Given the description of an element on the screen output the (x, y) to click on. 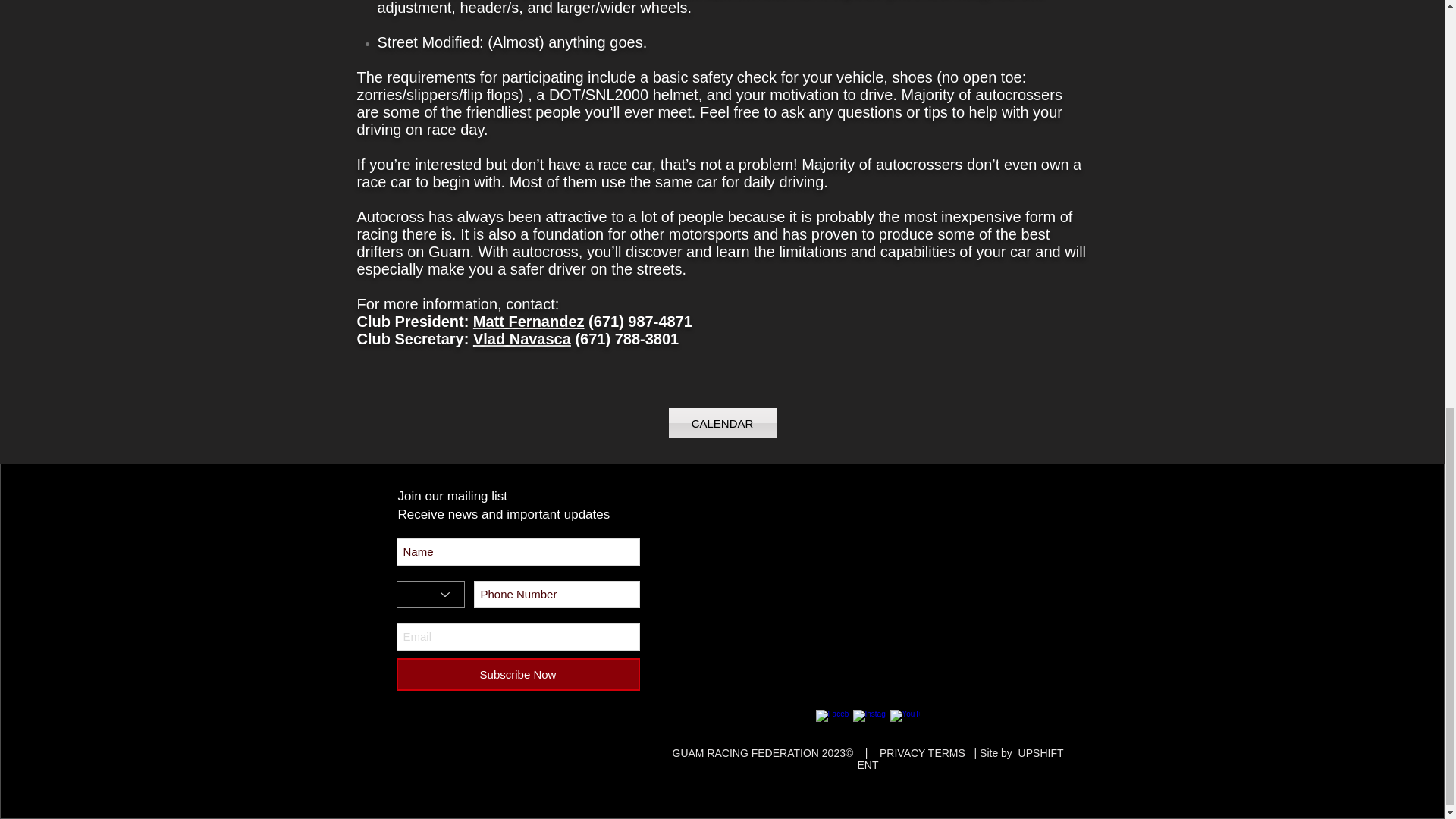
CALENDAR (722, 422)
Matt Fernandez (529, 321)
Email (517, 636)
UPSHIFT ENT (959, 758)
PRIVACY TERMS (922, 752)
Vlad Navasca (521, 338)
Subscribe Now (517, 674)
